Given the description of an element on the screen output the (x, y) to click on. 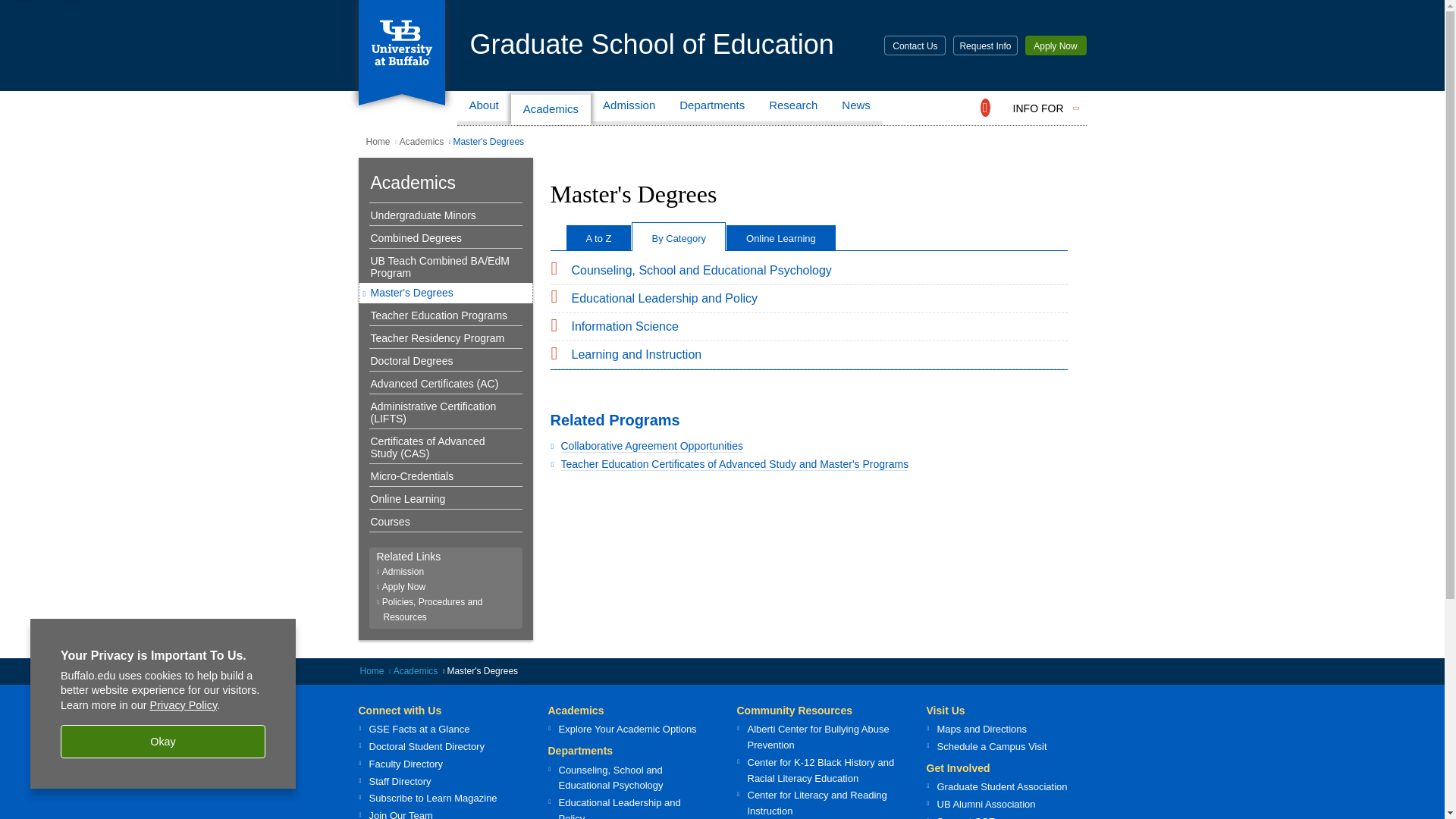
Academics (551, 107)
Request Info (984, 45)
Apply Now (1055, 45)
Graduate School of Education (652, 43)
Contact Us (913, 45)
About (484, 107)
